Given the description of an element on the screen output the (x, y) to click on. 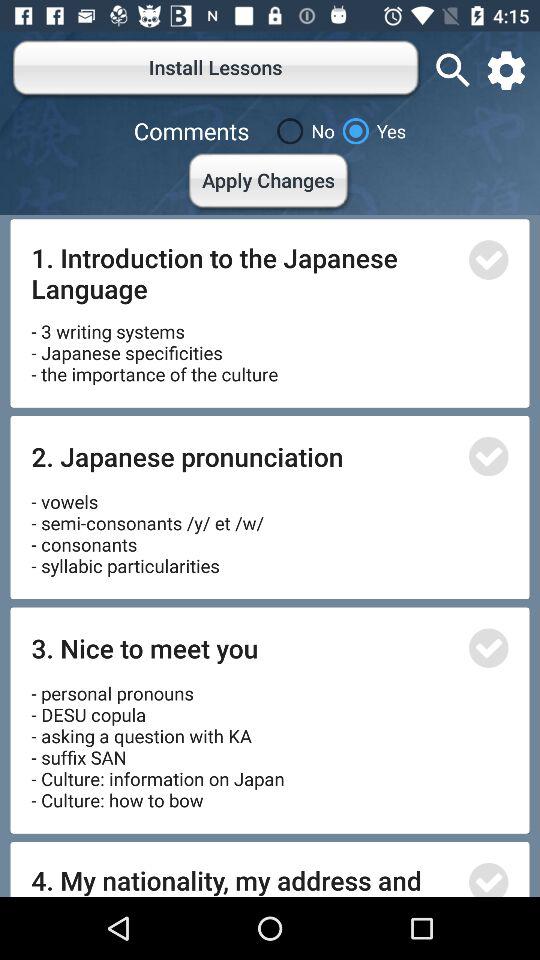
swipe to 3 writing systems (154, 345)
